Given the description of an element on the screen output the (x, y) to click on. 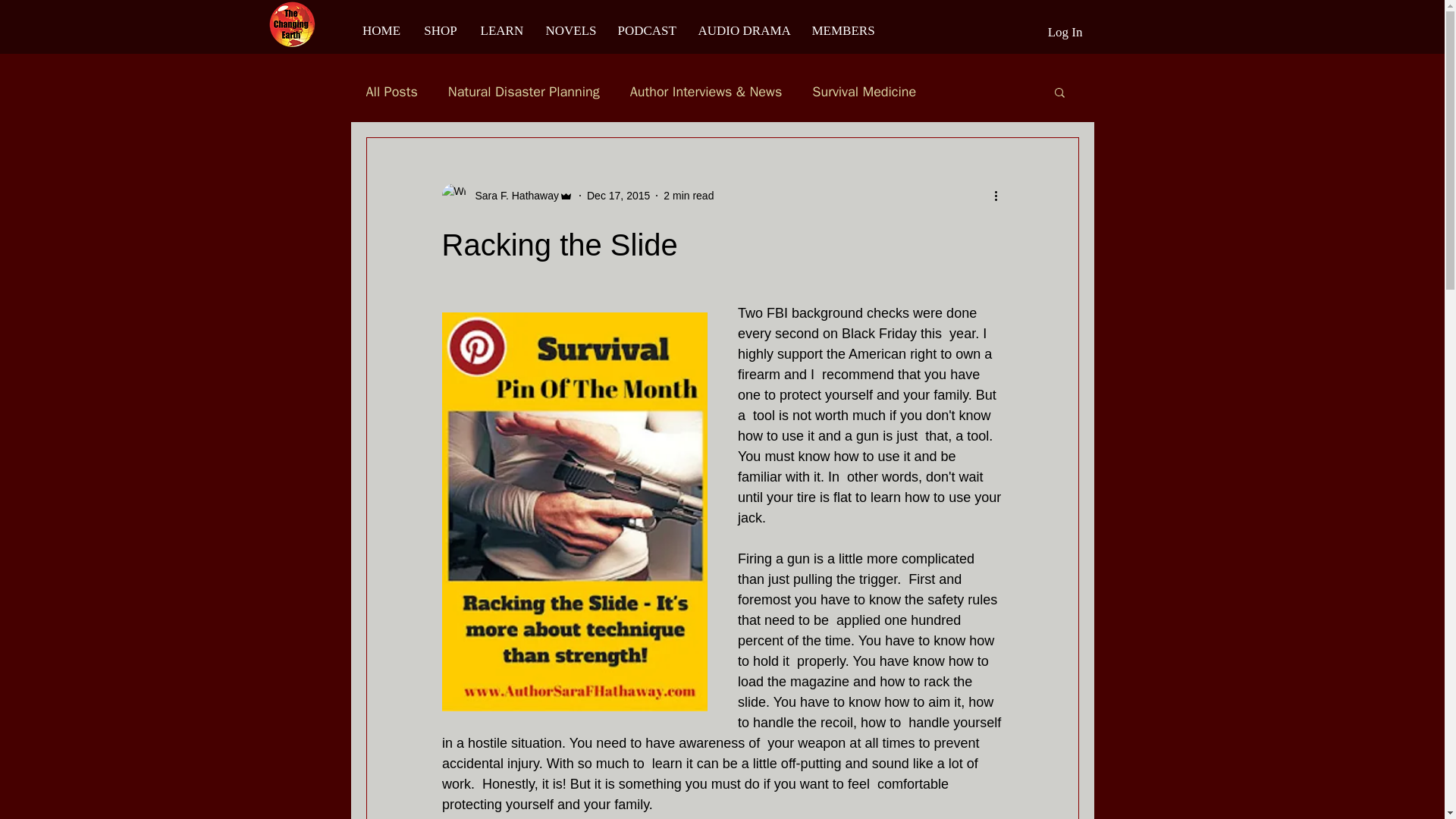
Dec 17, 2015 (617, 195)
2 min read (688, 195)
HOME (381, 30)
SHOP (440, 30)
Sara F. Hathaway (512, 195)
